Given the description of an element on the screen output the (x, y) to click on. 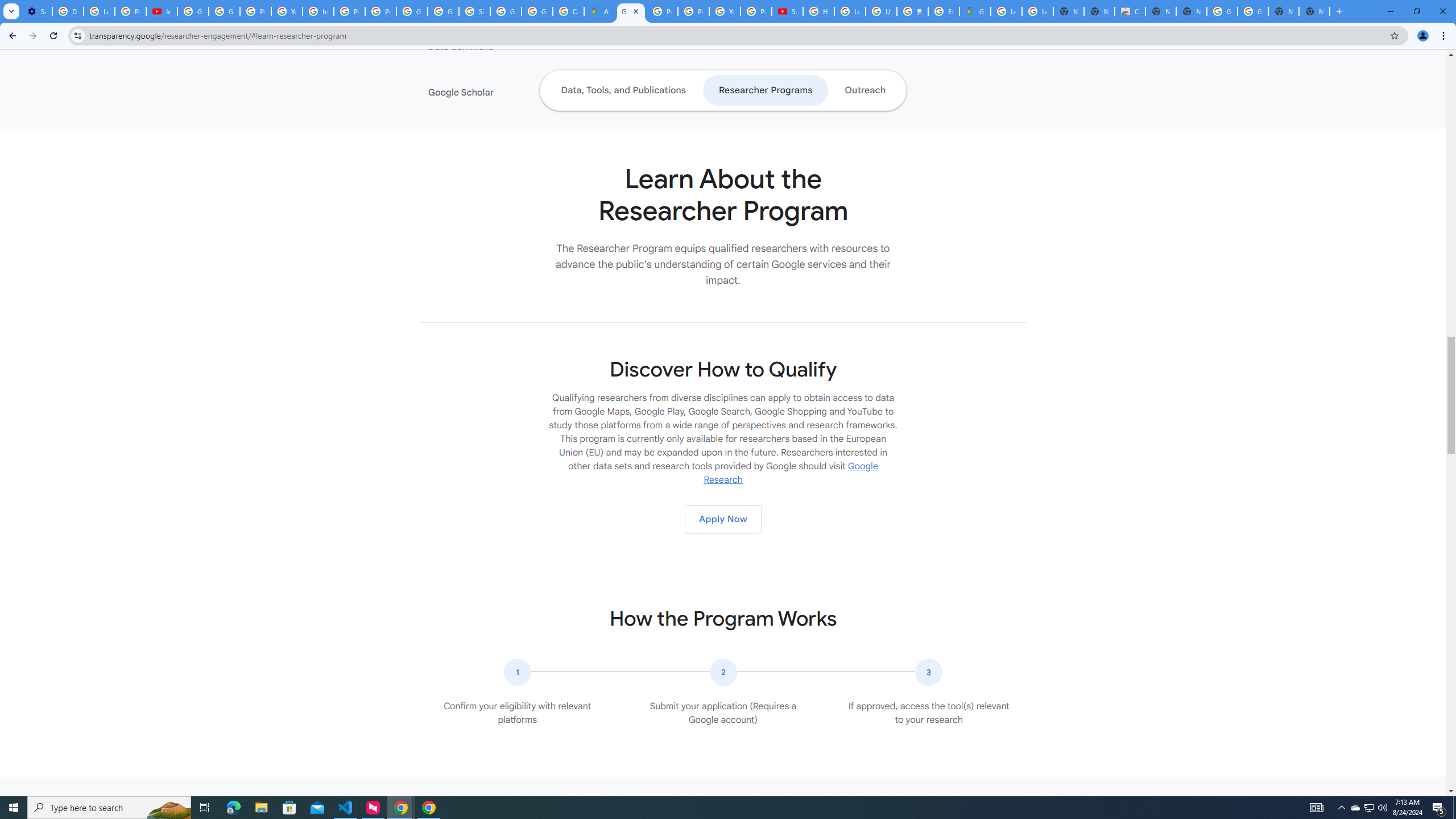
Data Commons (497, 46)
The number three in a circular icon. (929, 672)
Create your Google Account (568, 11)
Data Commons (497, 46)
Introduction | Google Privacy Policy - YouTube (161, 11)
YouTube (724, 11)
Data, Tools, and Publications (622, 90)
Outreach (865, 90)
